Given the description of an element on the screen output the (x, y) to click on. 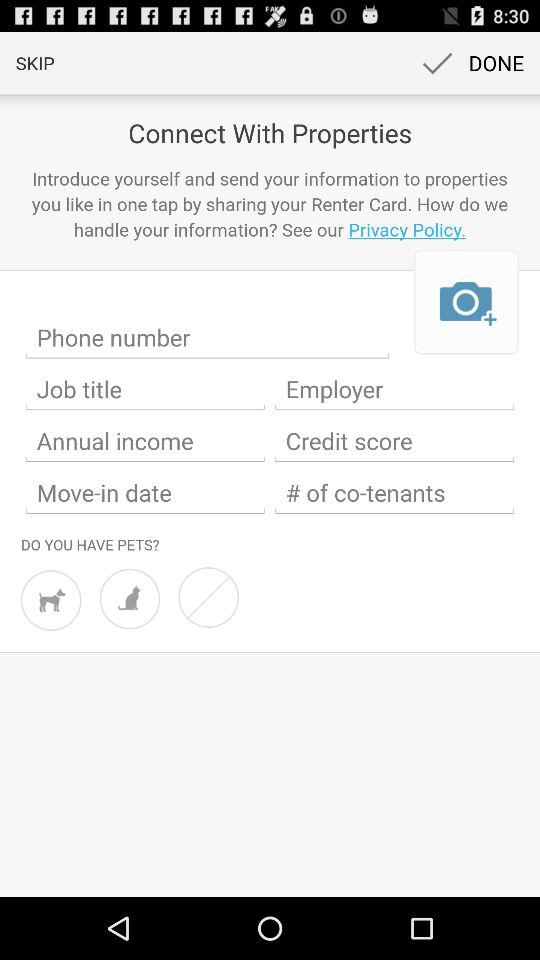
add annual income (145, 441)
